Given the description of an element on the screen output the (x, y) to click on. 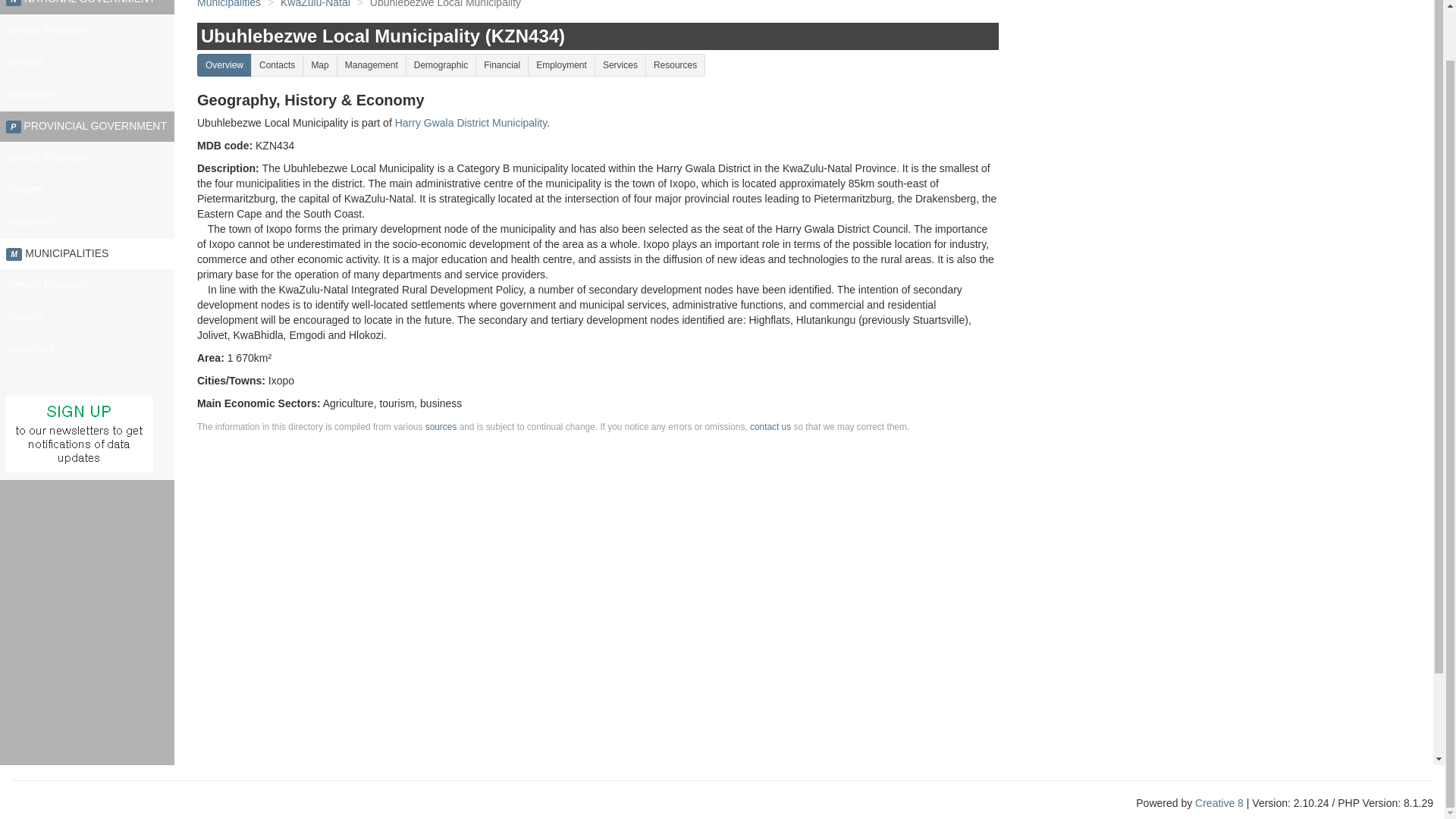
Map (319, 65)
3rd party ad content (1215, 511)
Employment (561, 65)
Tenders (87, 317)
Creative 8 (1219, 802)
Demographic (441, 65)
Services (620, 65)
Vacancies (87, 94)
Overview (223, 65)
Harry Gwala District Municipality (470, 122)
